Given the description of an element on the screen output the (x, y) to click on. 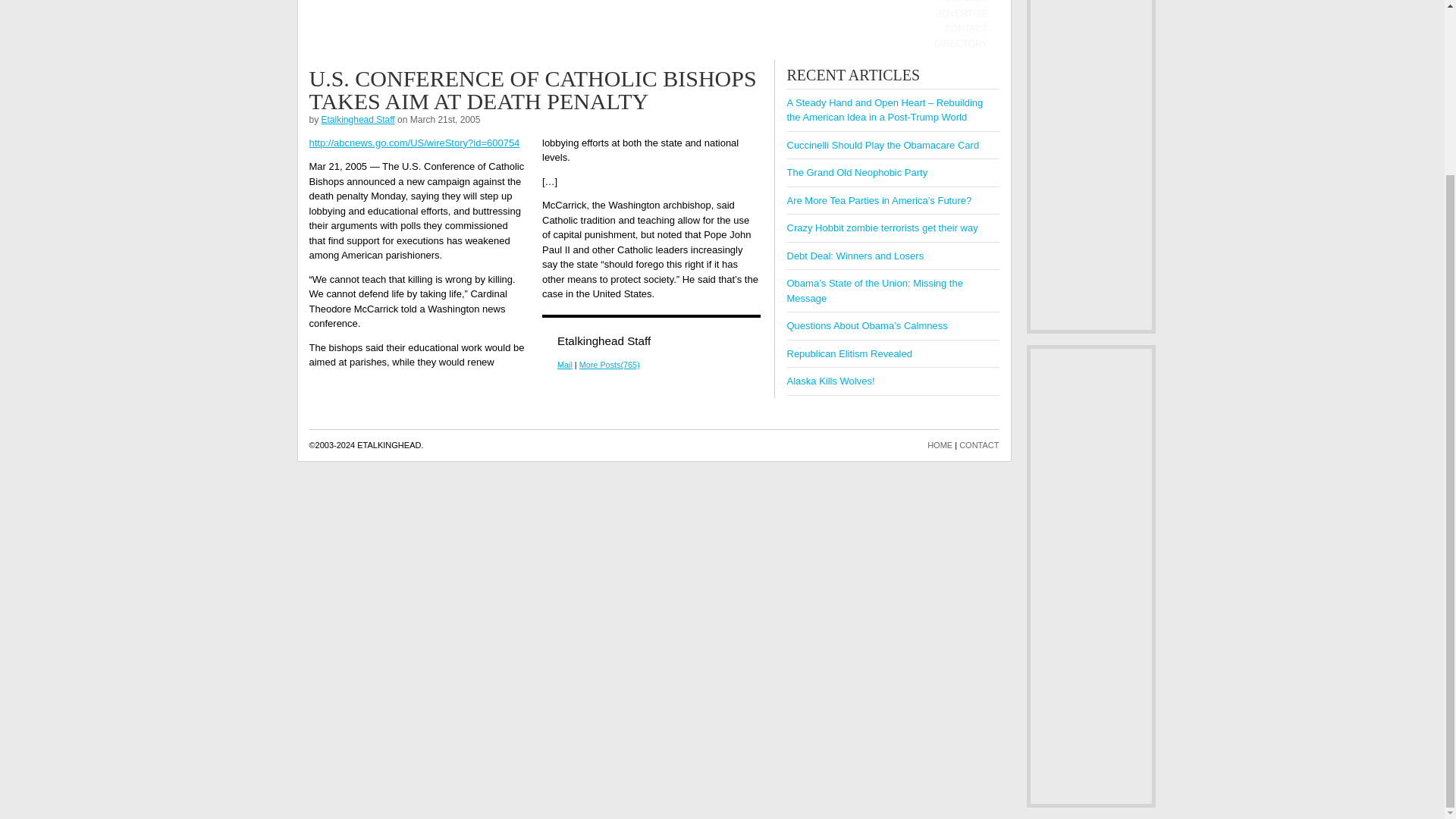
Crazy Hobbit zombie terrorists get their way (882, 227)
Posts by Etalkinghead Staff (357, 118)
Etalkinghead Staff (357, 118)
DIRECTORY (960, 43)
Send Etalkinghead Staff Mail (564, 364)
Cuccinelli Should Play the Obamacare Card (883, 144)
The Grand Old Neophobic Party (857, 172)
CONTACT (965, 28)
ARCHIVES (963, 2)
Alaska Kills Wolves! (831, 380)
Debt Deal: Winners and Losers (855, 255)
HOME (939, 444)
Republican Elitism Revealed (849, 352)
CONTACT (978, 444)
Mail (564, 364)
